Given the description of an element on the screen output the (x, y) to click on. 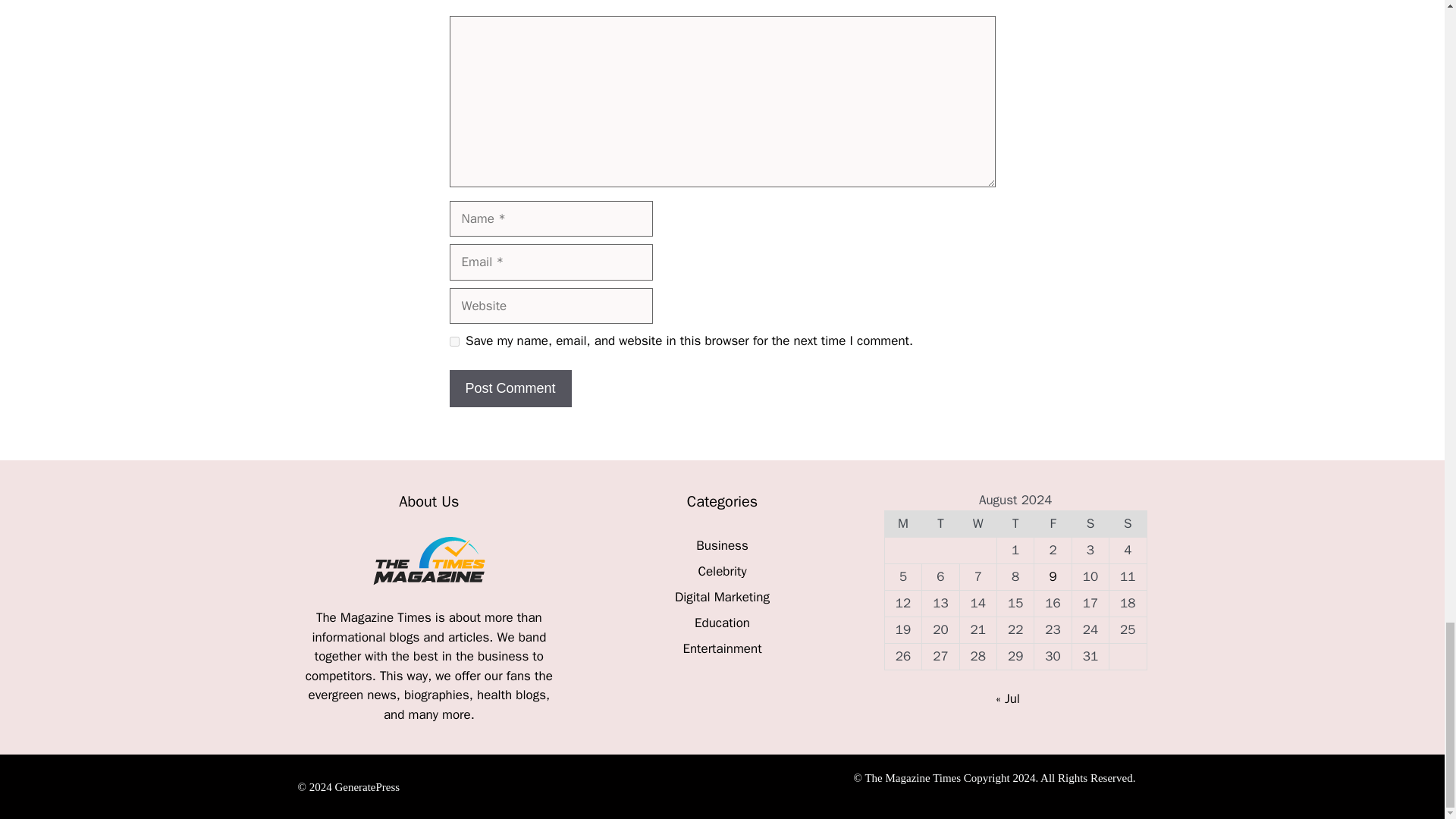
Thursday (1014, 523)
Monday (902, 523)
Post Comment (509, 388)
Saturday (1089, 523)
Wednesday (977, 523)
Tuesday (940, 523)
Friday (1052, 523)
yes (453, 341)
Sunday (1128, 523)
